Given the description of an element on the screen output the (x, y) to click on. 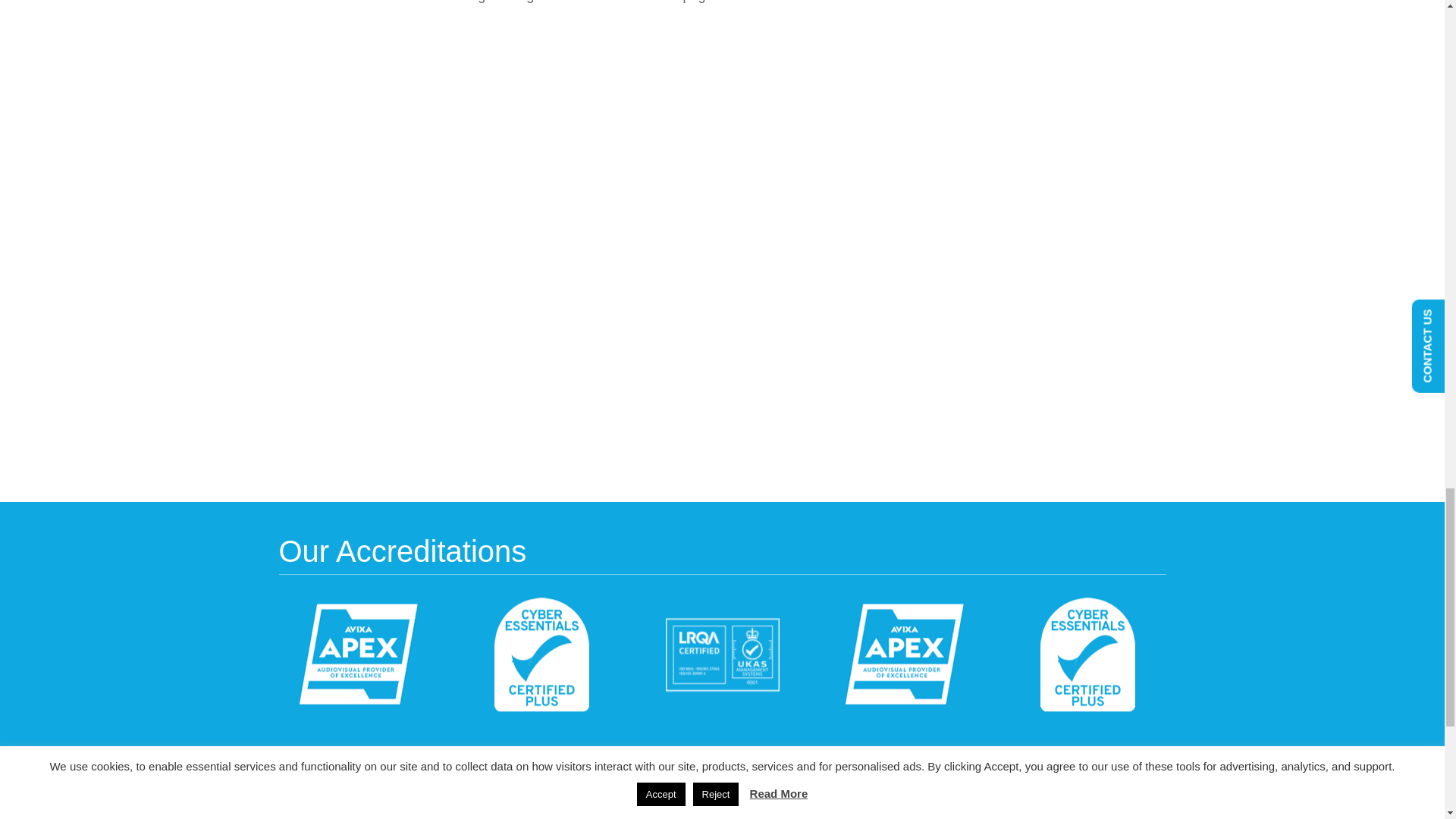
Involve (392, 803)
